Given the description of an element on the screen output the (x, y) to click on. 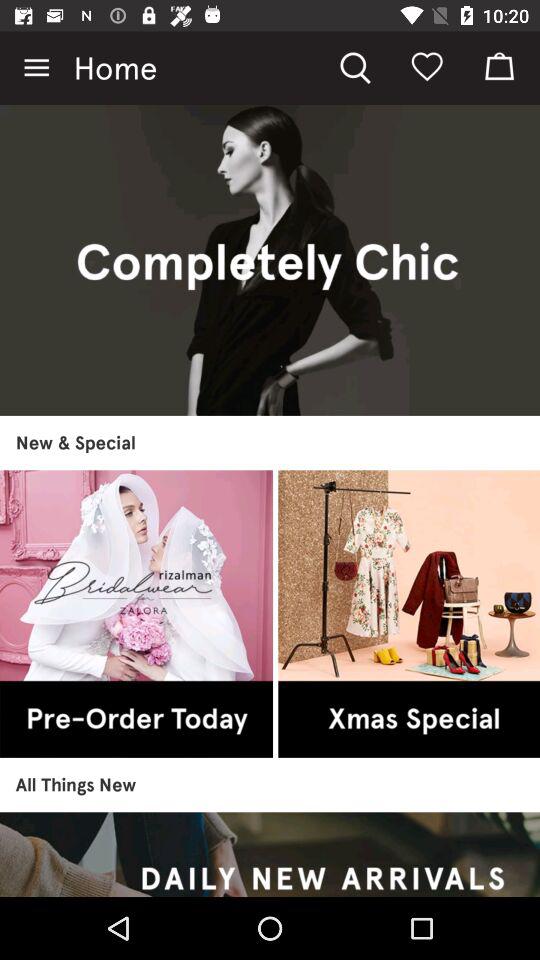
turn on the icon at the top left corner (36, 68)
